Given the description of an element on the screen output the (x, y) to click on. 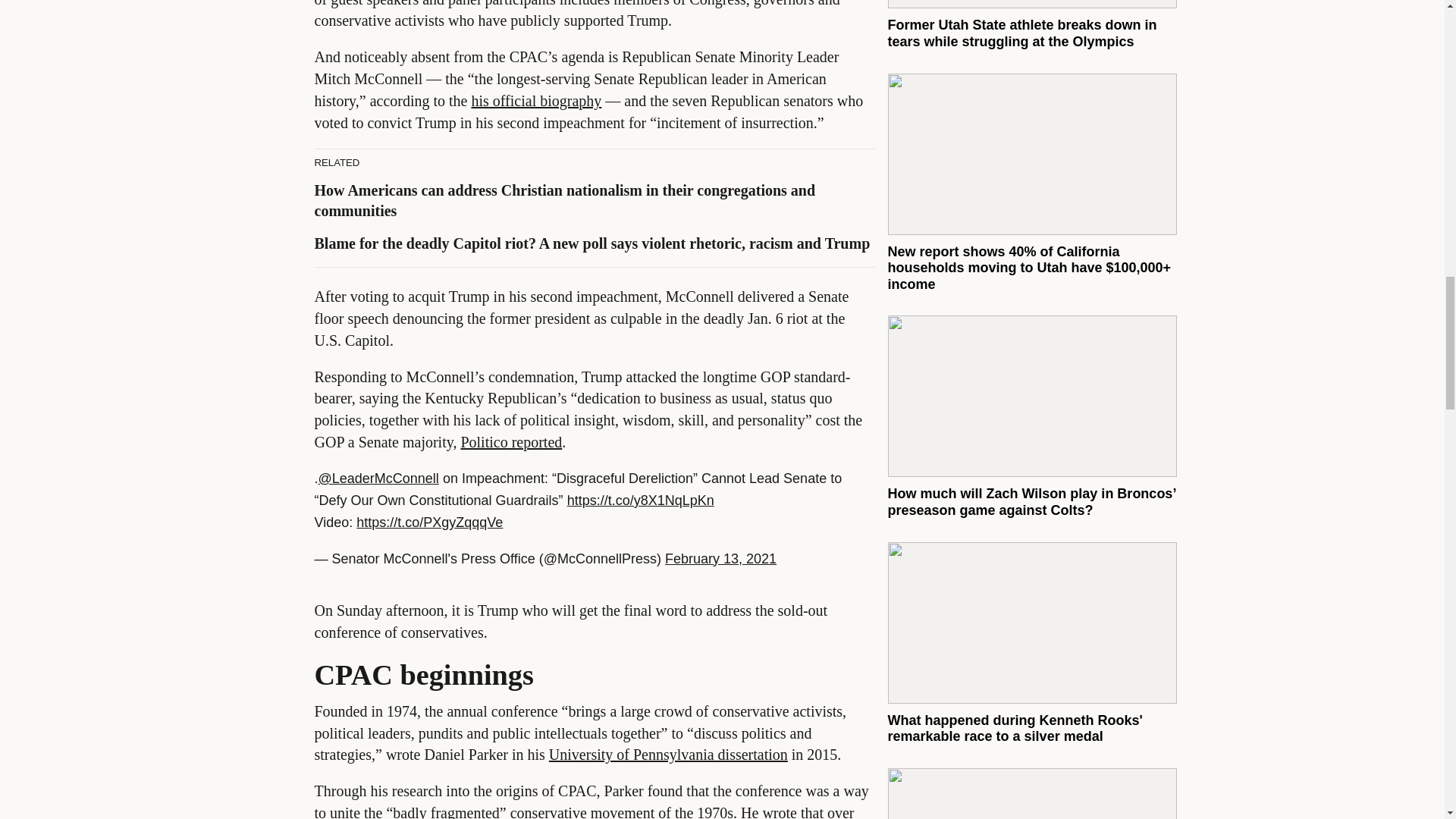
February 13, 2021 (720, 558)
Politico reported (511, 442)
his official biography (535, 100)
